Given the description of an element on the screen output the (x, y) to click on. 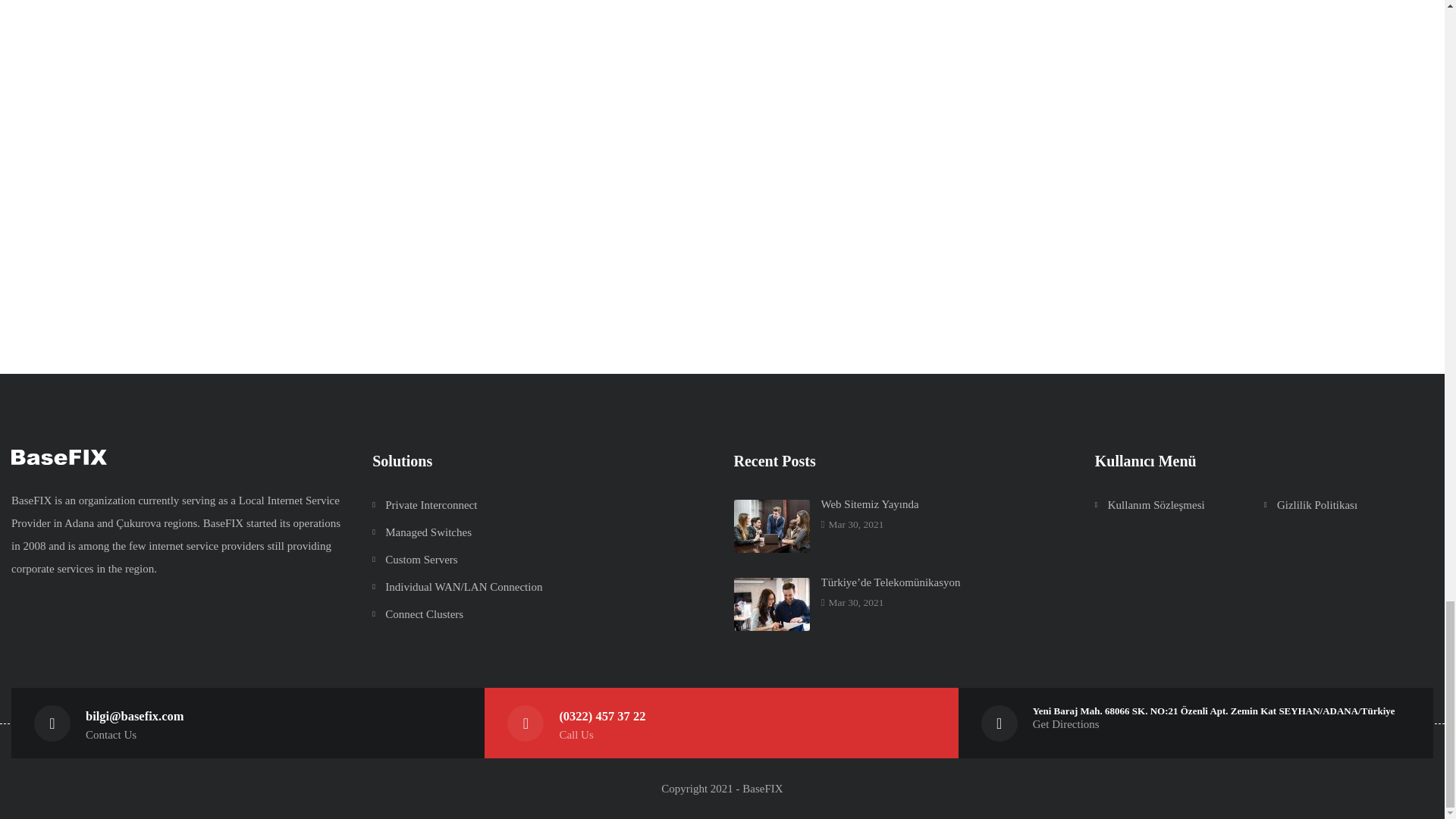
Custom Servers (421, 559)
Managed Switches (428, 532)
Private Interconnect (431, 504)
Connect Clusters (424, 613)
